Given the description of an element on the screen output the (x, y) to click on. 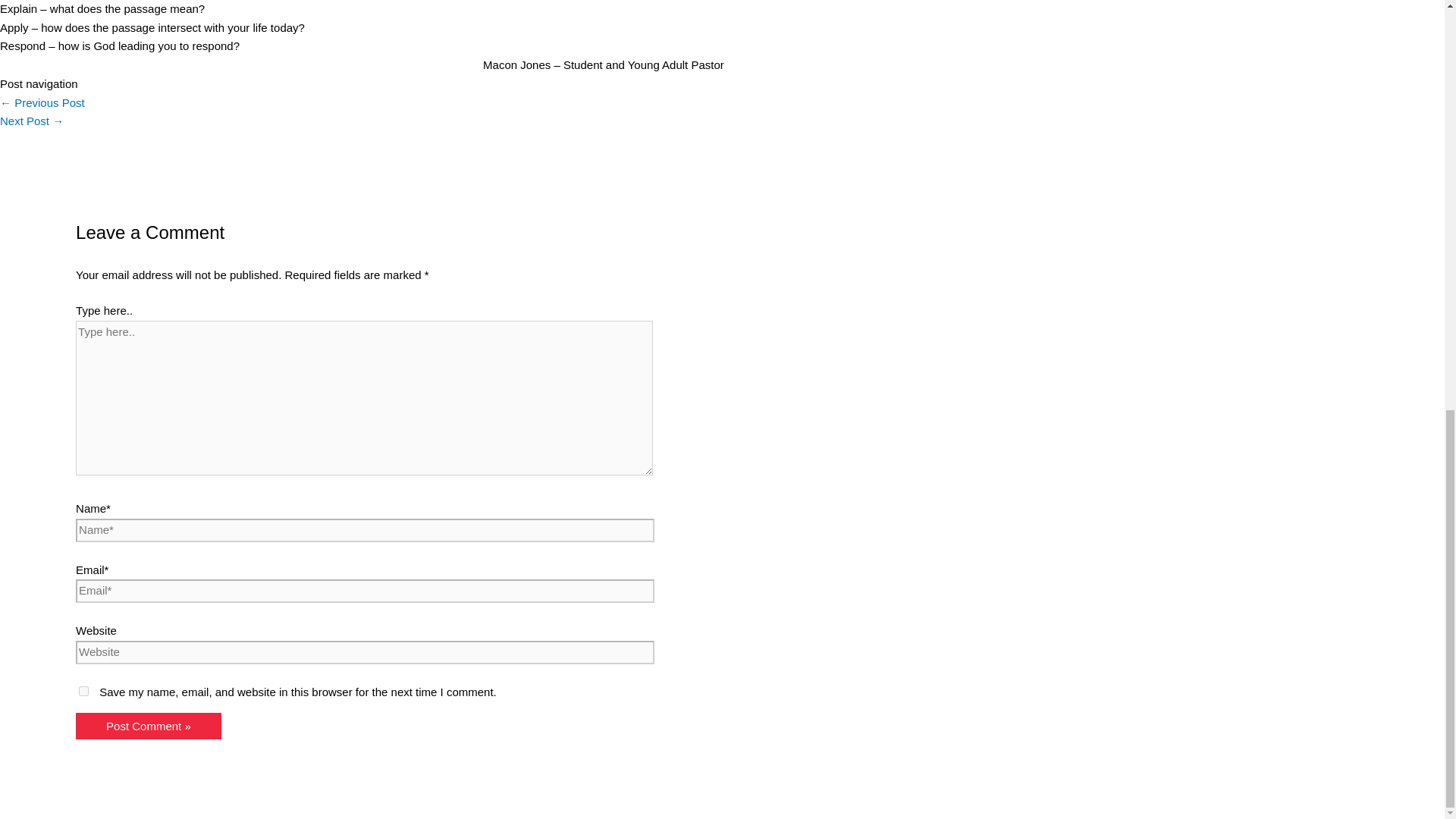
"Happy to Help" (32, 120)
"He's nothing special, I grew up with him" (42, 102)
yes (83, 691)
